Given the description of an element on the screen output the (x, y) to click on. 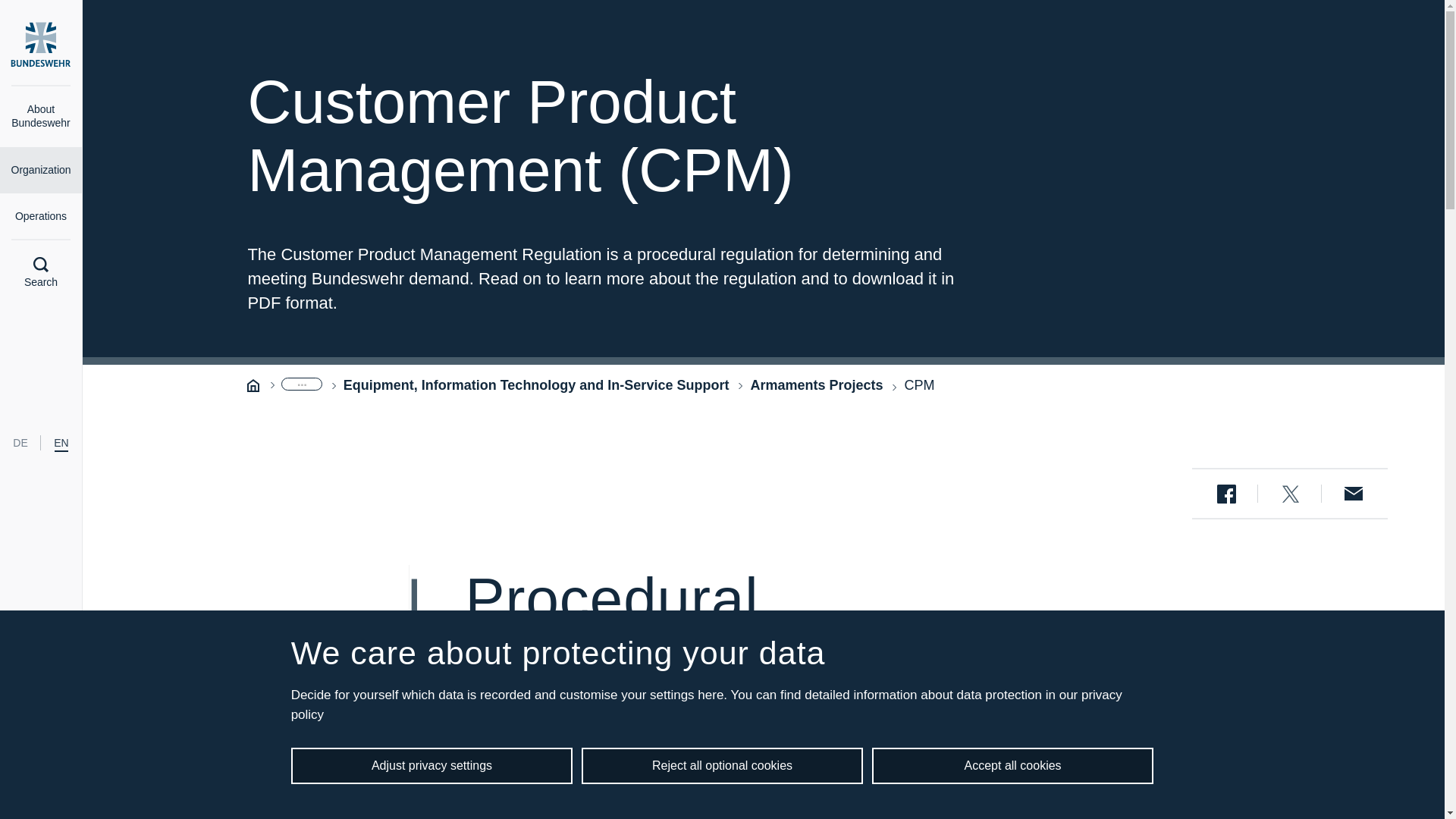
Customer Product Management (919, 385)
Search (40, 273)
Equipment, Information Technology and In-Service Support (536, 385)
Armaments Projects (815, 385)
English (60, 442)
Organization (40, 170)
German (20, 442)
CPM (919, 385)
About Bundeswehr (40, 116)
Logo Bundeswehr - Go to homepage (40, 44)
